Given the description of an element on the screen output the (x, y) to click on. 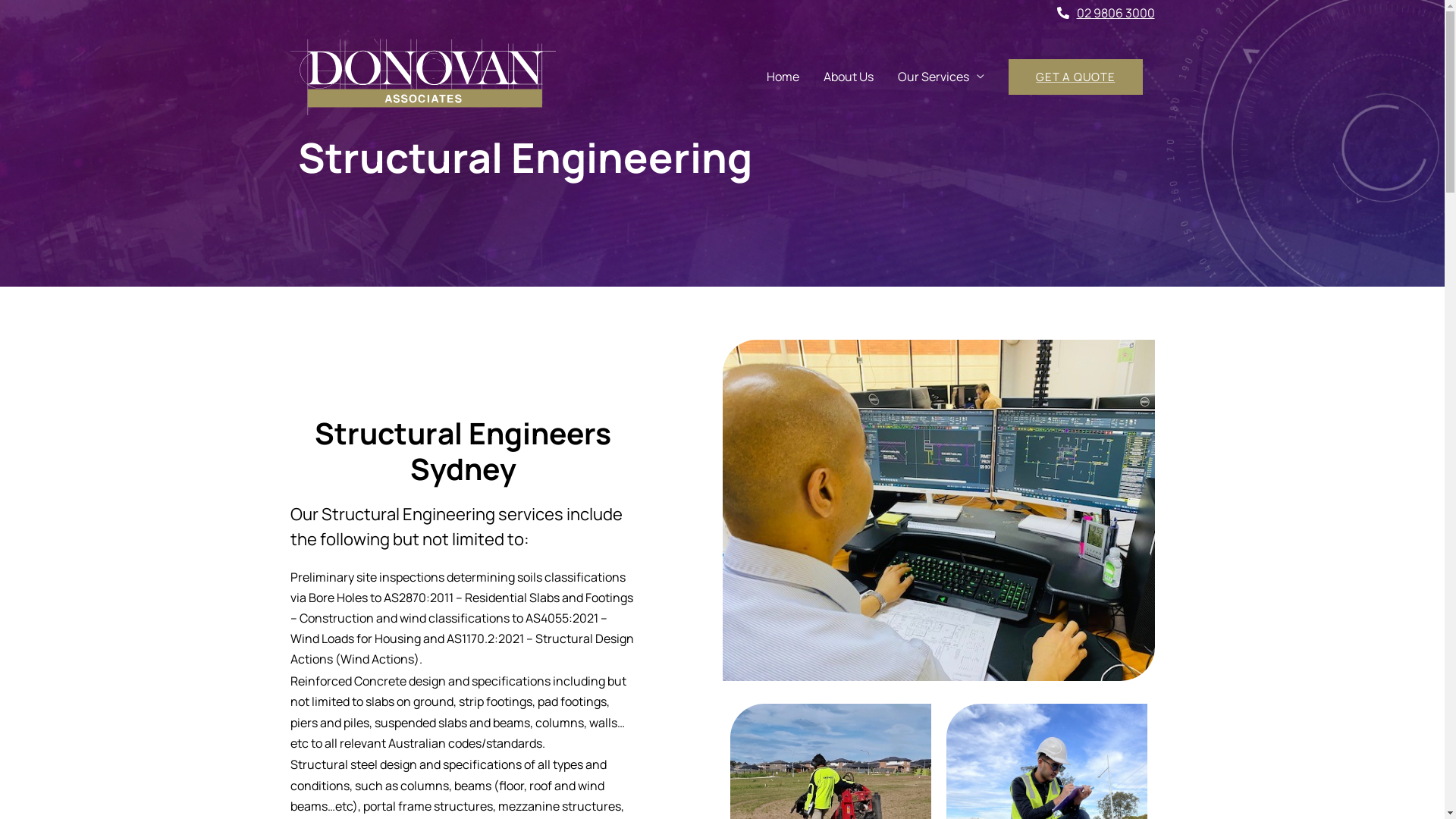
02 9806 3000 Element type: text (1105, 12)
GET A QUOTE Element type: text (1075, 76)
About Us Element type: text (848, 76)
Home Element type: text (782, 76)
Our Services Element type: text (940, 76)
